Given the description of an element on the screen output the (x, y) to click on. 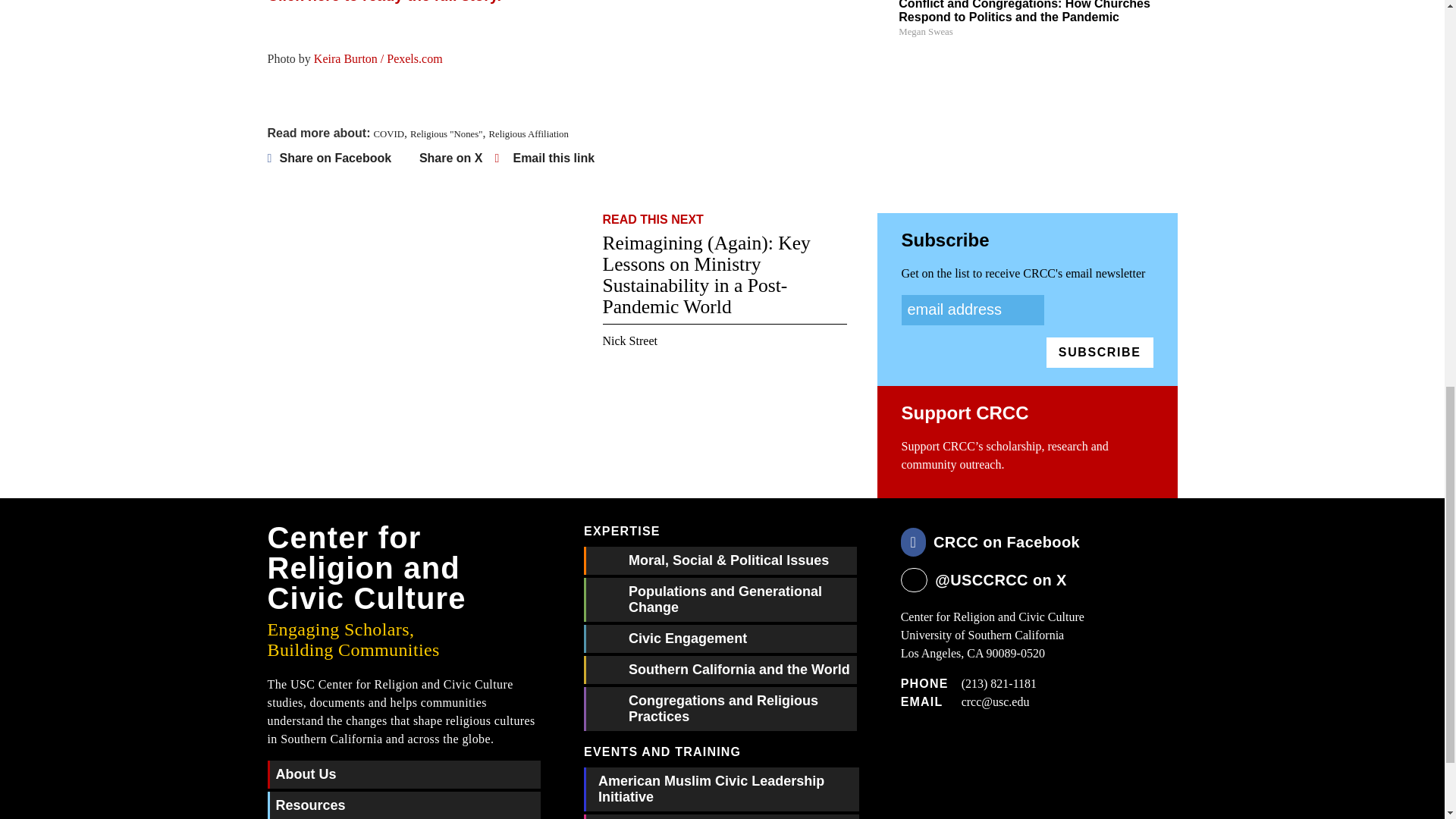
Subscribe (1099, 352)
Click here to ready the full story. (383, 2)
